Given the description of an element on the screen output the (x, y) to click on. 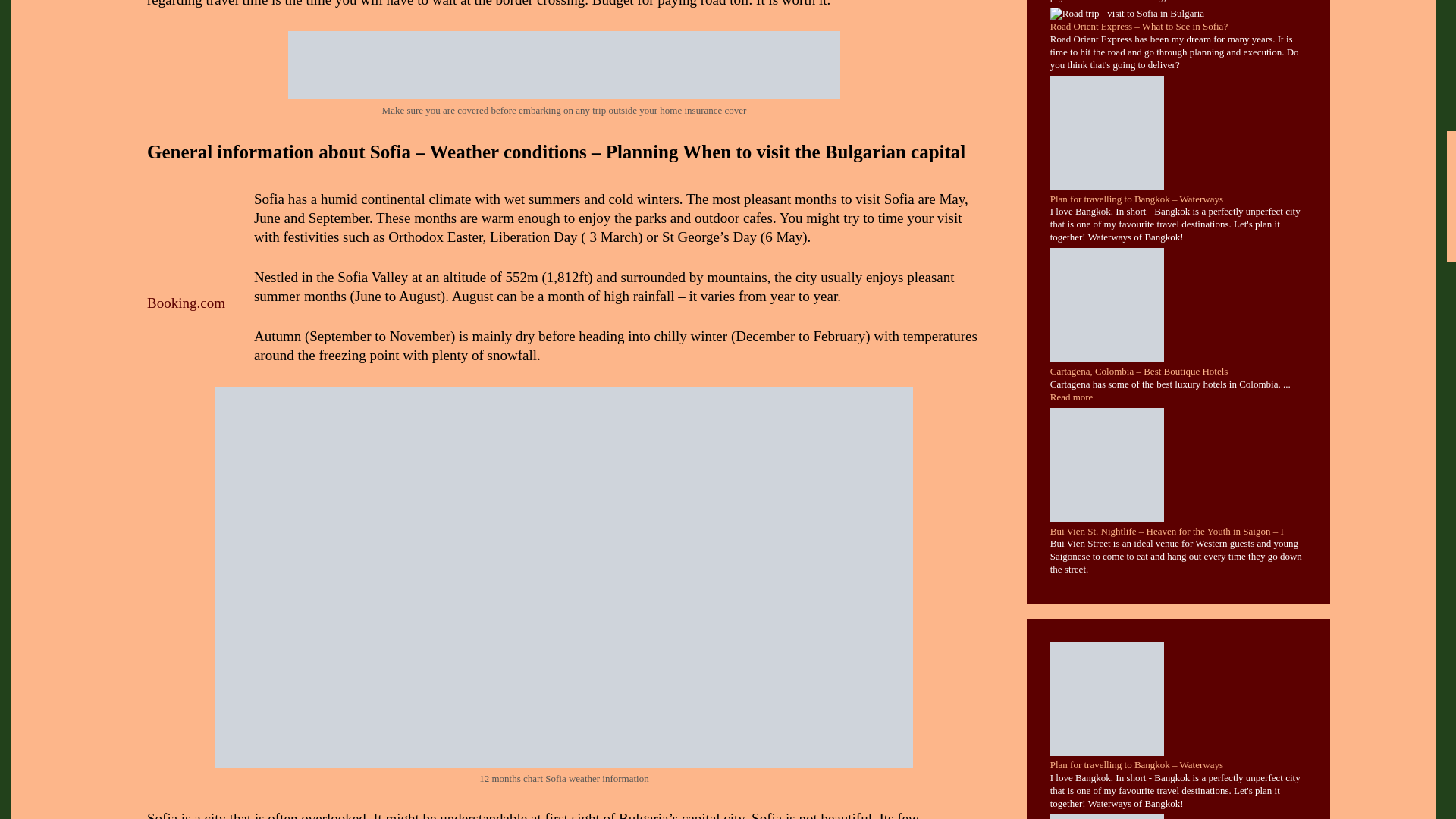
image - TRAVEL GUIDE (564, 65)
Booking.com (186, 302)
